Given the description of an element on the screen output the (x, y) to click on. 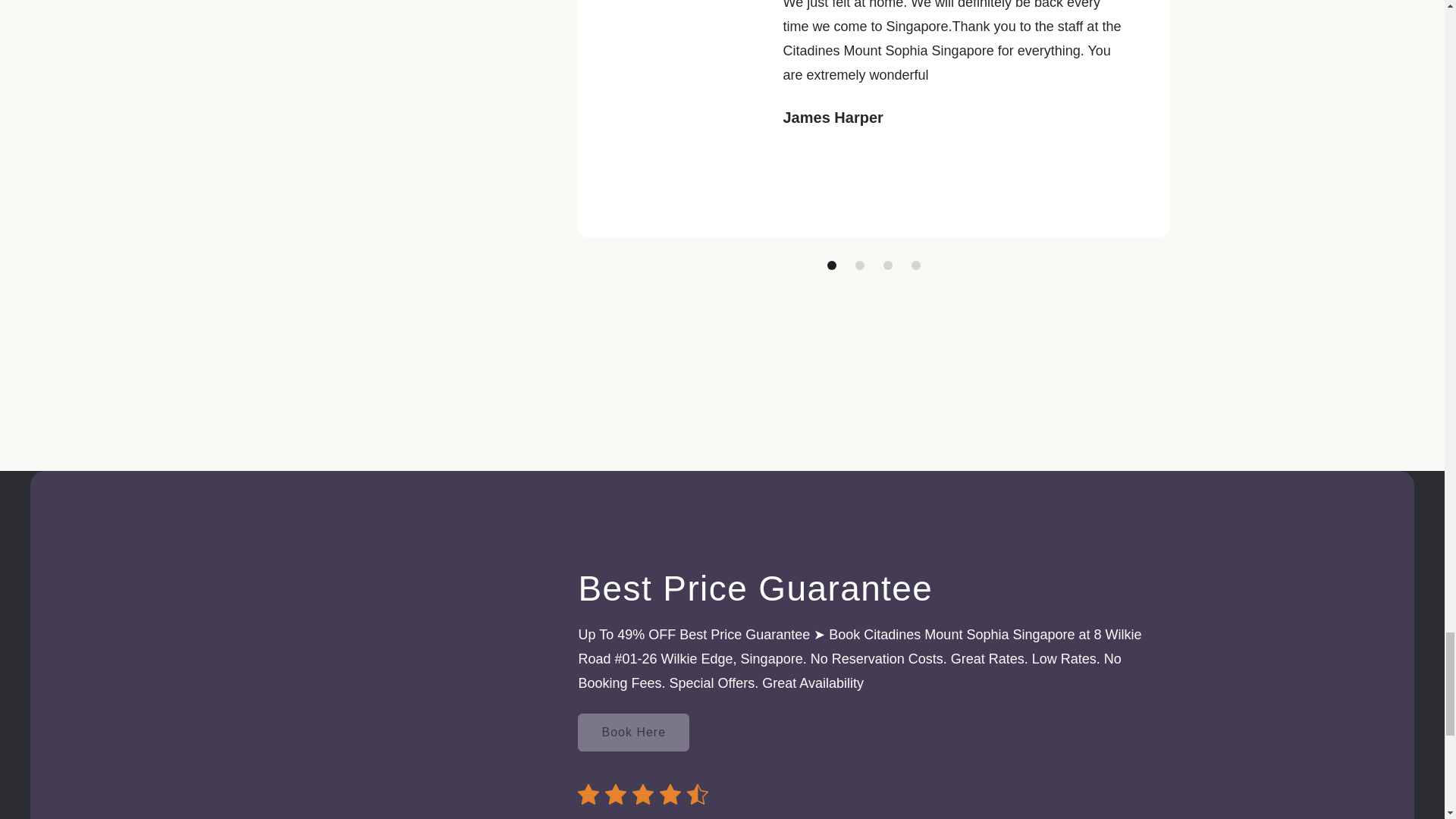
Book Here (633, 732)
